Given the description of an element on the screen output the (x, y) to click on. 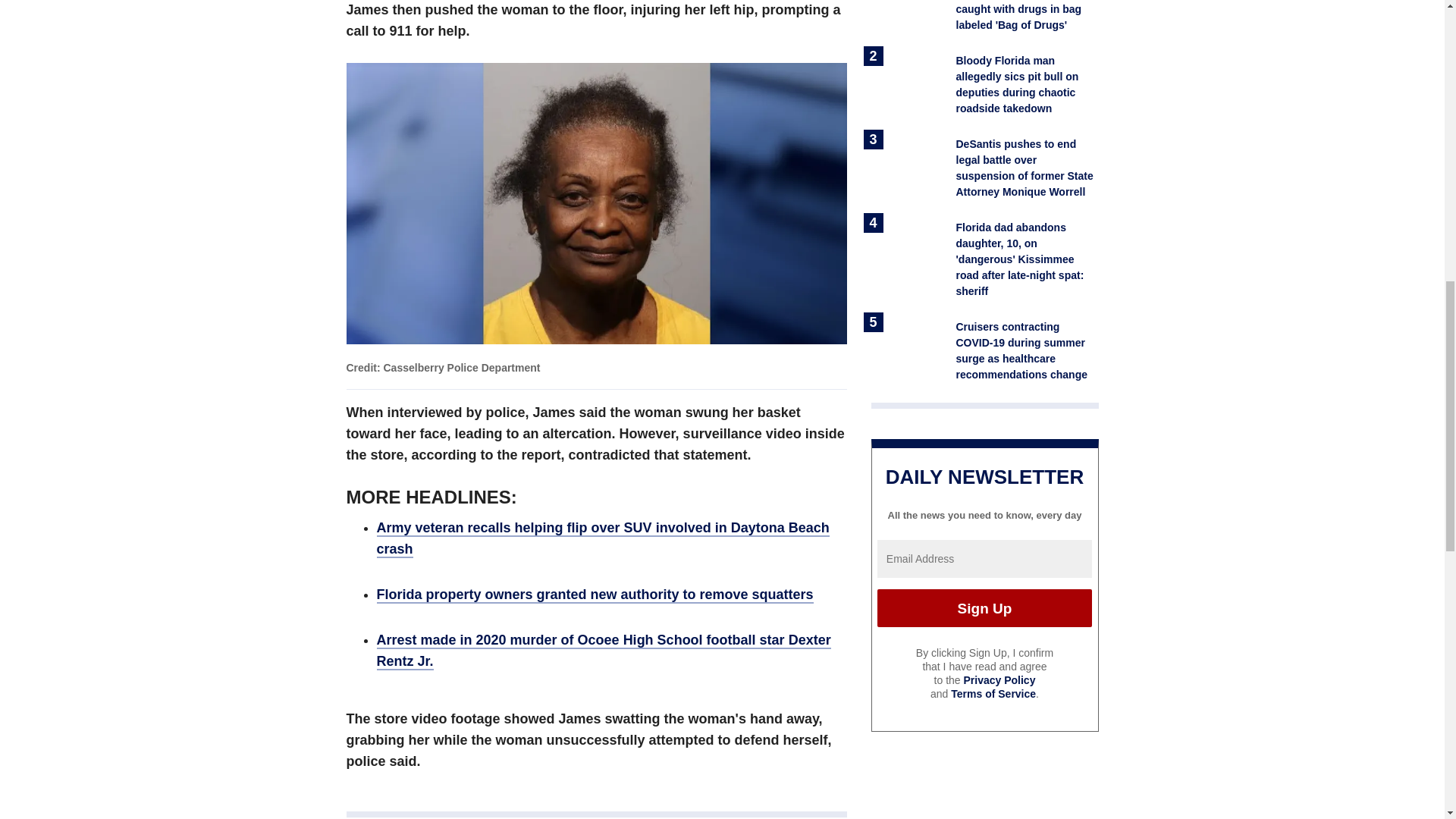
Sign Up (984, 607)
